Given the description of an element on the screen output the (x, y) to click on. 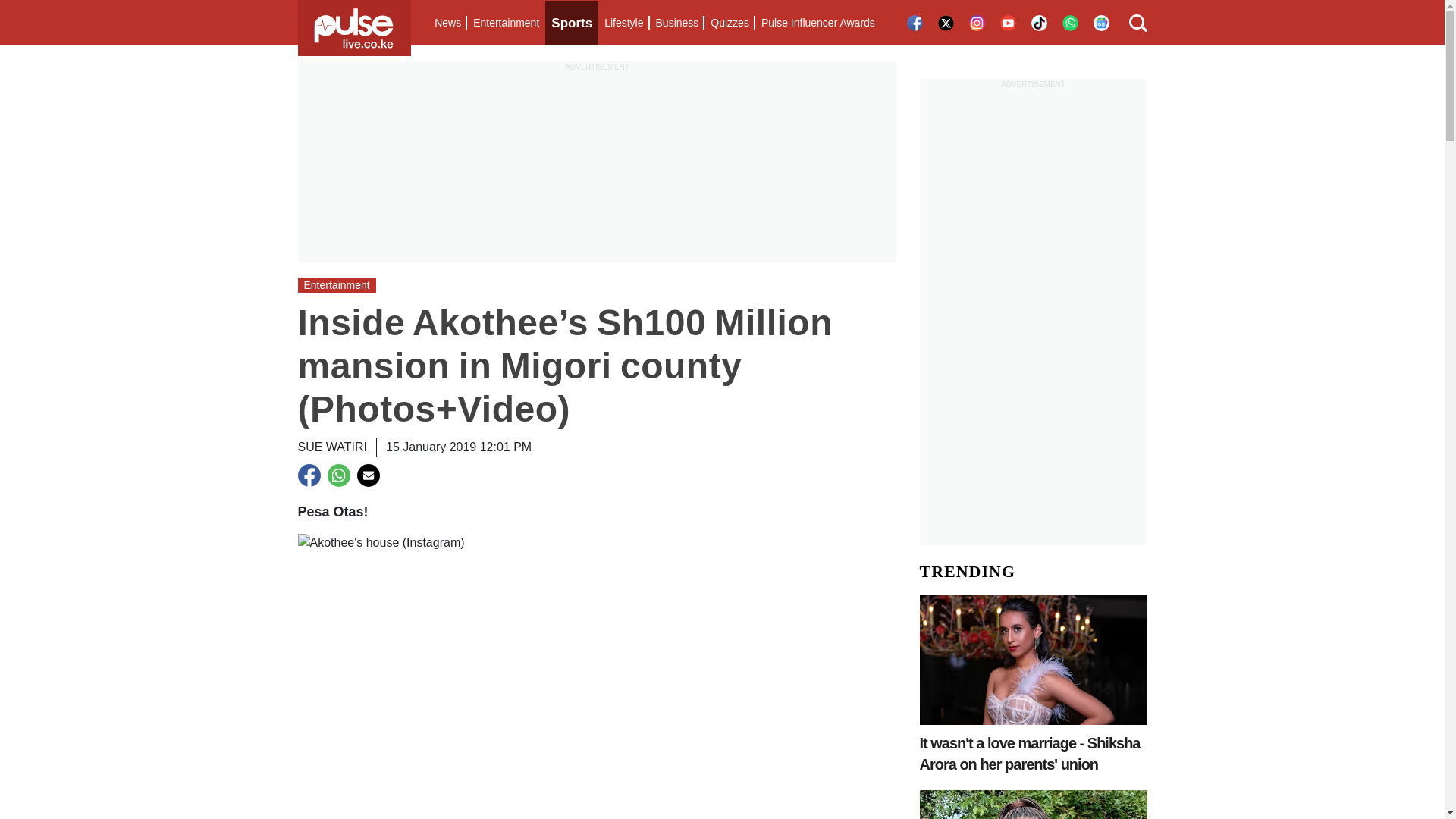
Pulse Influencer Awards (817, 22)
Sports (571, 22)
Entertainment (505, 22)
Business (676, 22)
Lifestyle (623, 22)
Quizzes (729, 22)
